Given the description of an element on the screen output the (x, y) to click on. 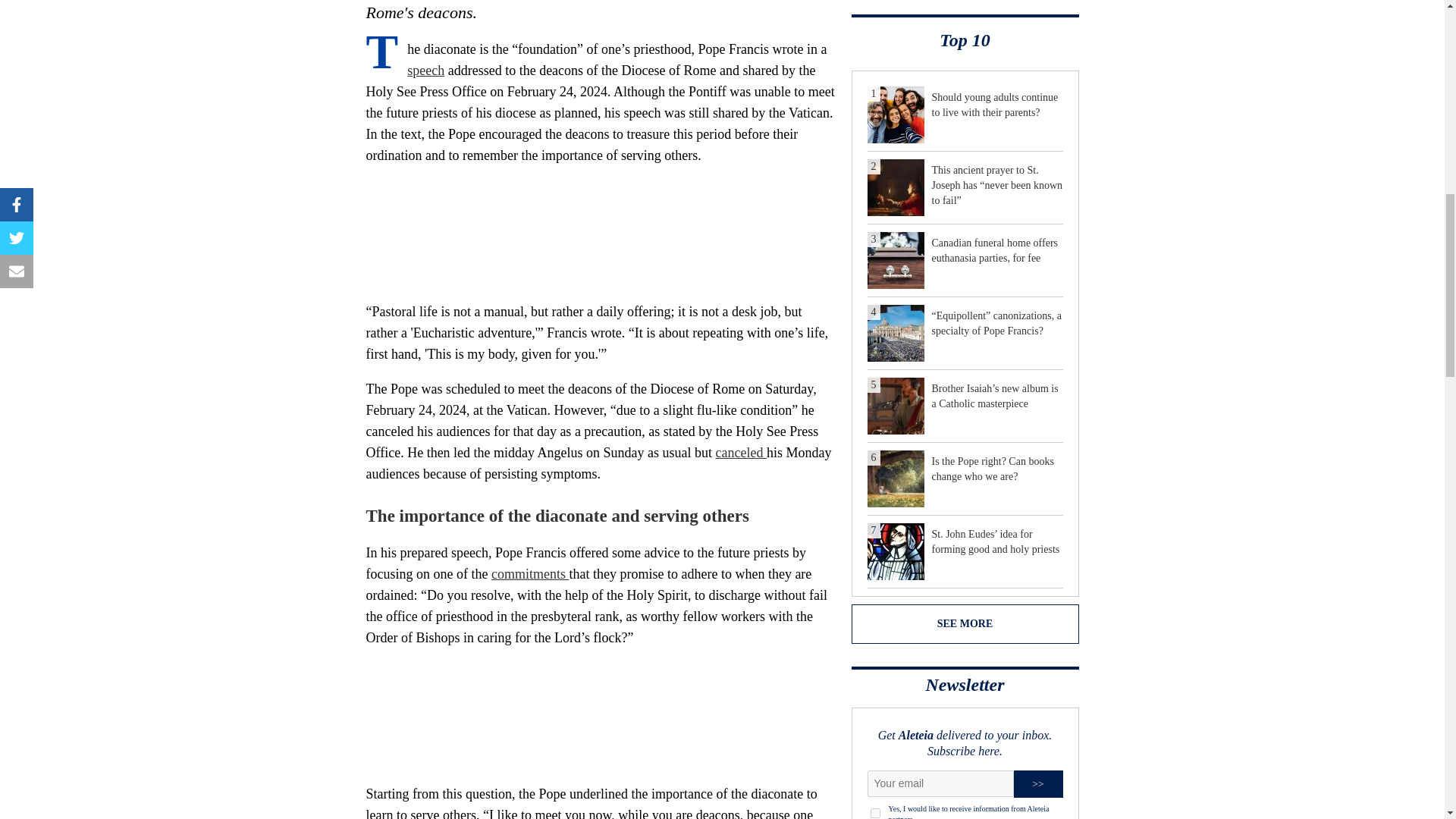
1 (875, 813)
speech (425, 70)
canceled (741, 452)
